Given the description of an element on the screen output the (x, y) to click on. 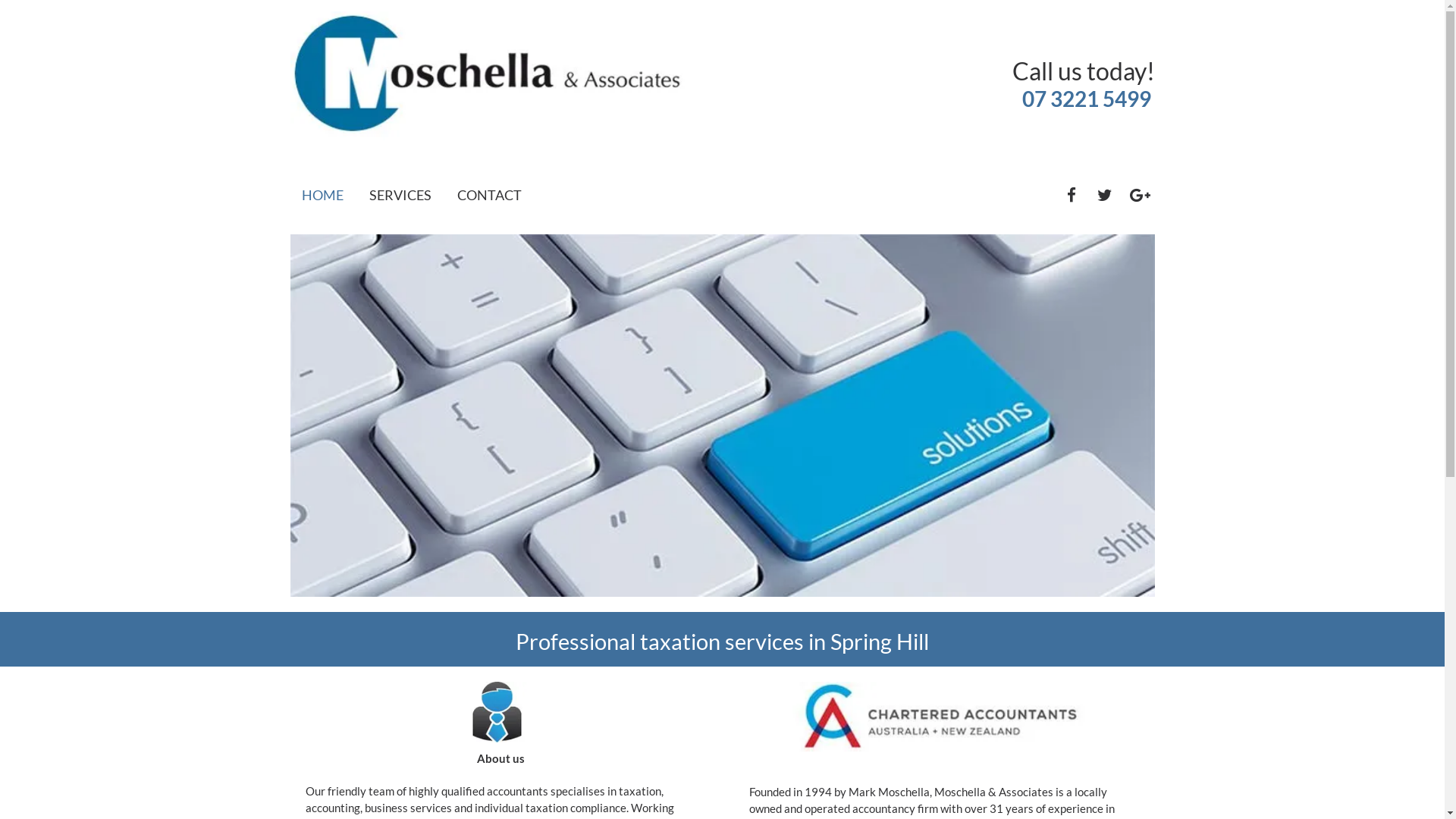
SERVICES Element type: text (399, 194)
CONTACT Element type: text (488, 194)
moschella and associates about us icon Element type: hover (495, 711)
CA_BR_Horiz_PMS_Coated Element type: hover (940, 728)
07 3221 5499 Element type: text (1086, 98)
moschella-and-associates-logo-chartered-accountant Element type: hover (488, 83)
HOME Element type: text (322, 194)
moschellakeyboards Element type: hover (721, 415)
